Given the description of an element on the screen output the (x, y) to click on. 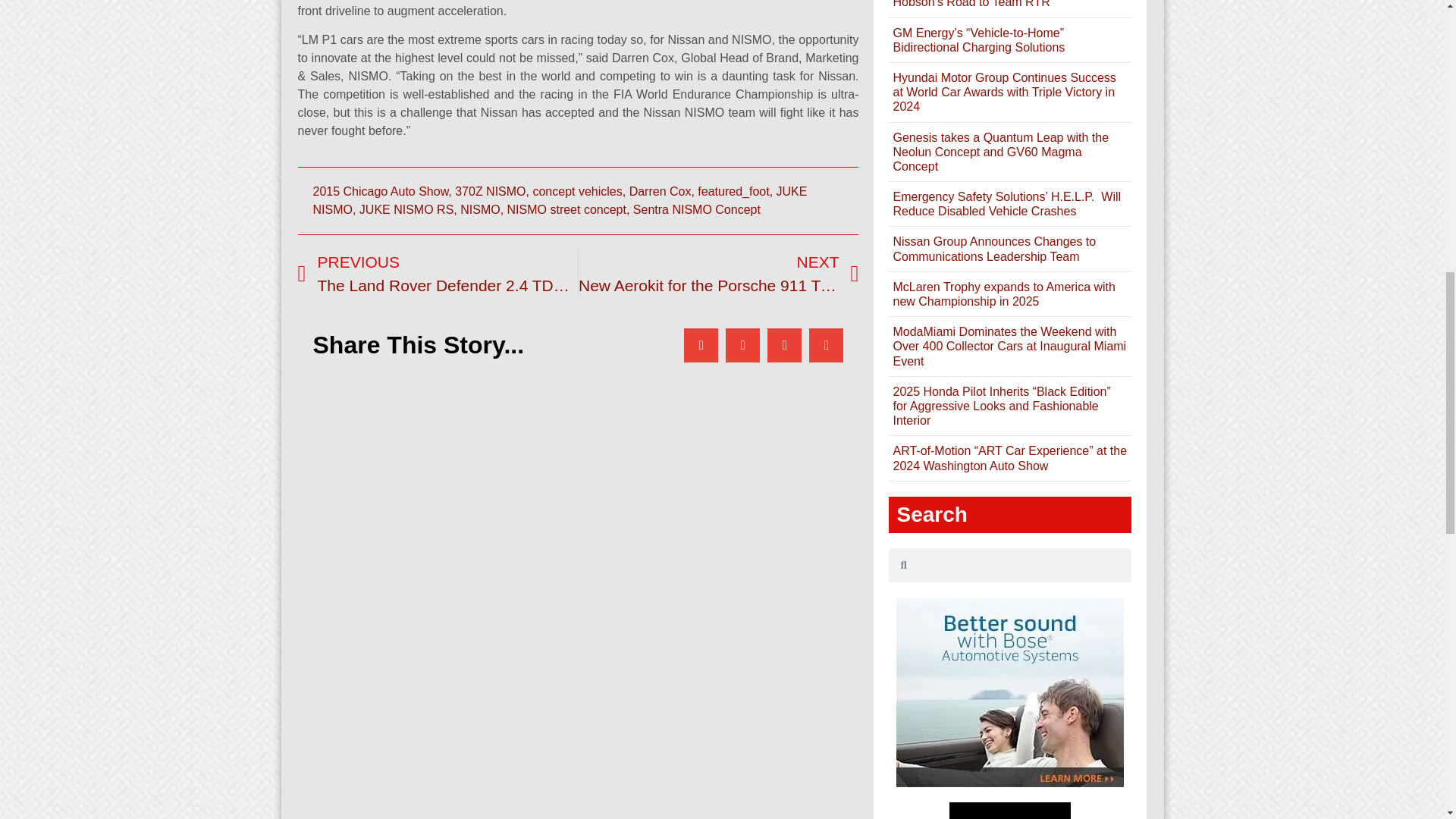
370Z NISMO (489, 191)
2015 Chicago Auto Show (380, 191)
NISMO (479, 209)
Sentra NISMO Concept (718, 274)
JUKE NISMO (696, 209)
concept vehicles (559, 200)
Darren Cox (576, 191)
NISMO street concept (659, 191)
